Given the description of an element on the screen output the (x, y) to click on. 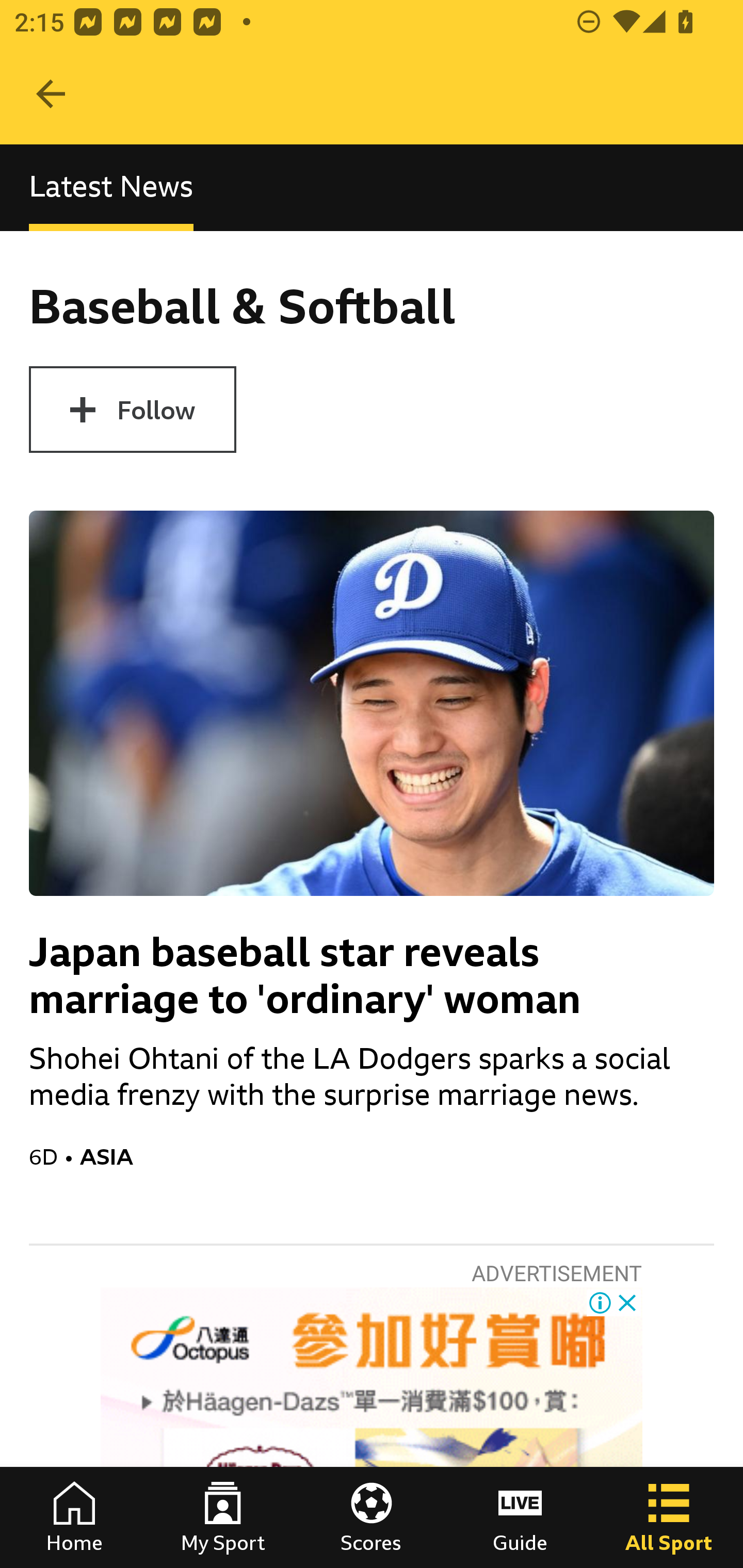
Navigate up (50, 93)
Latest News, selected Latest News (111, 187)
Follow Baseball & Softball Follow (132, 409)
ASIA In the section Asia (397, 1156)
Advertisement (371, 1427)
Home (74, 1517)
My Sport (222, 1517)
Scores (371, 1517)
Guide (519, 1517)
